Given the description of an element on the screen output the (x, y) to click on. 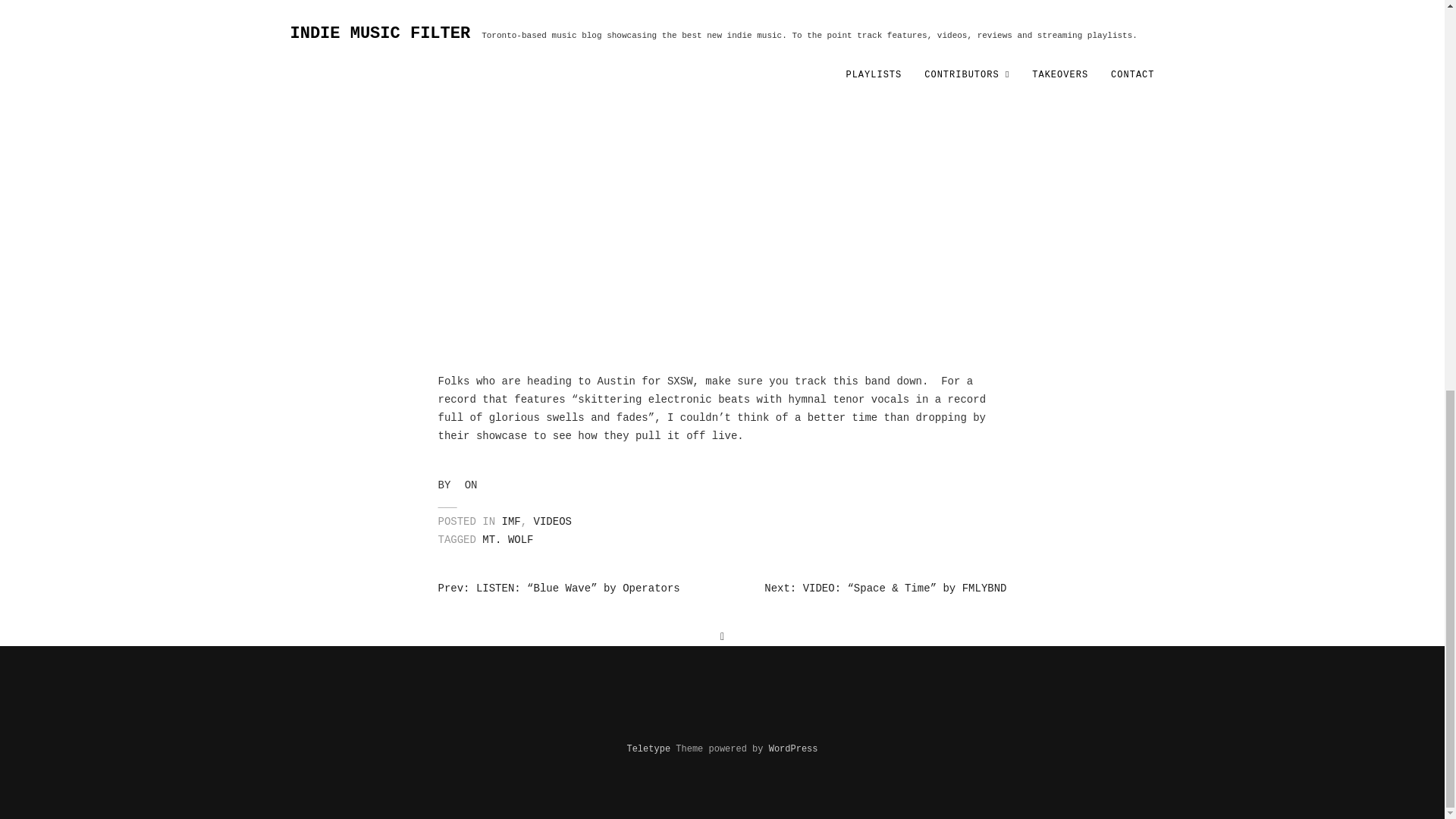
VIDEOS (553, 521)
MT. WOLF (506, 539)
IMF (511, 521)
WordPress (793, 748)
Teletype (647, 748)
